Given the description of an element on the screen output the (x, y) to click on. 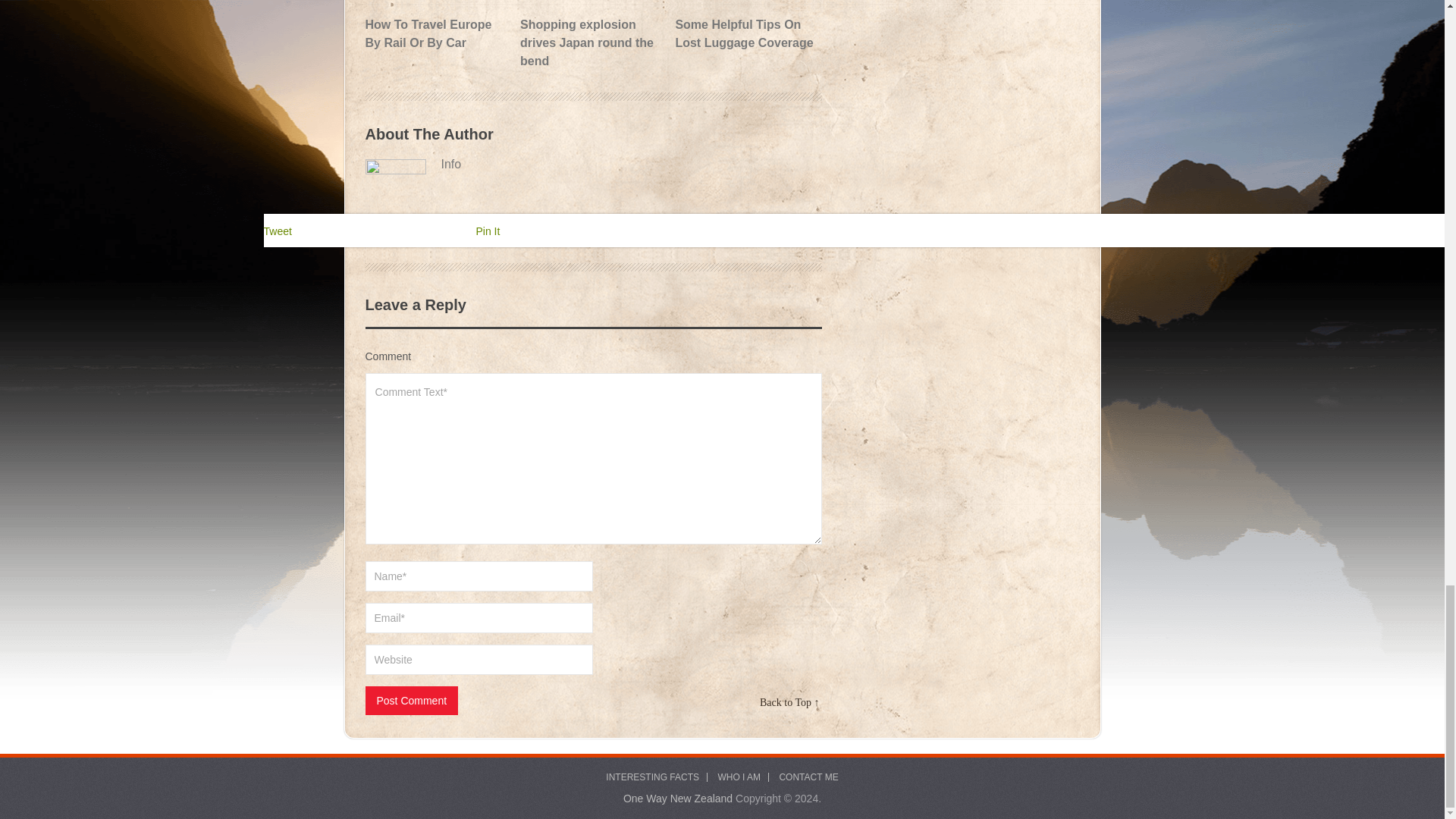
 A Travel Blog (677, 798)
Some Helpful Tips On Lost Luggage Coverage (746, 26)
Some Helpful Tips On Lost Luggage Coverage (746, 26)
Post Comment (411, 700)
Shopping explosion drives Japan round the bend (591, 35)
How To Travel Europe By Rail Or By Car (437, 26)
How To Travel Europe By Rail Or By Car (437, 26)
Info (593, 164)
Shopping explosion drives Japan round the bend (591, 35)
Post Comment (411, 700)
